Given the description of an element on the screen output the (x, y) to click on. 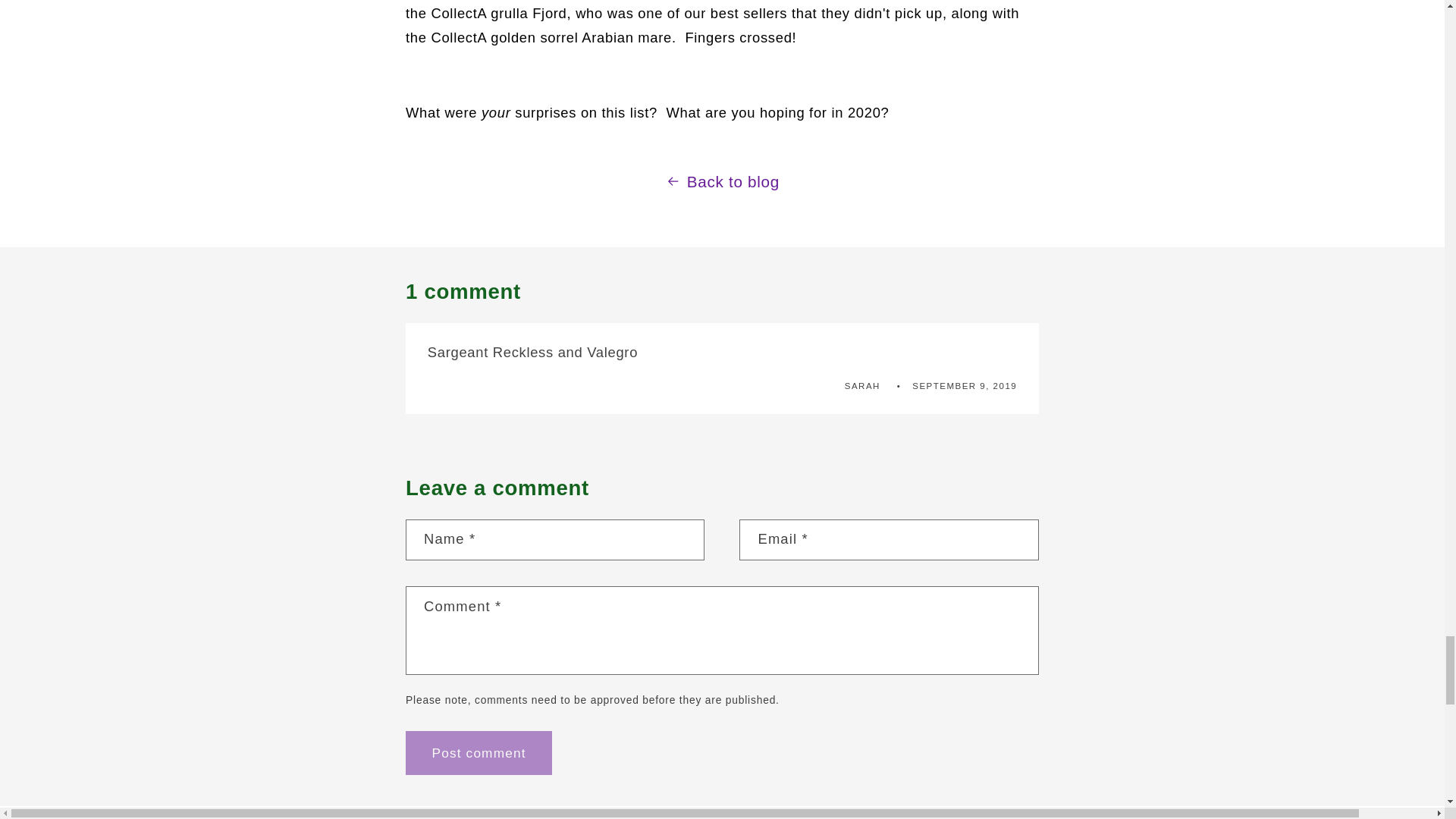
Post comment (478, 752)
